Given the description of an element on the screen output the (x, y) to click on. 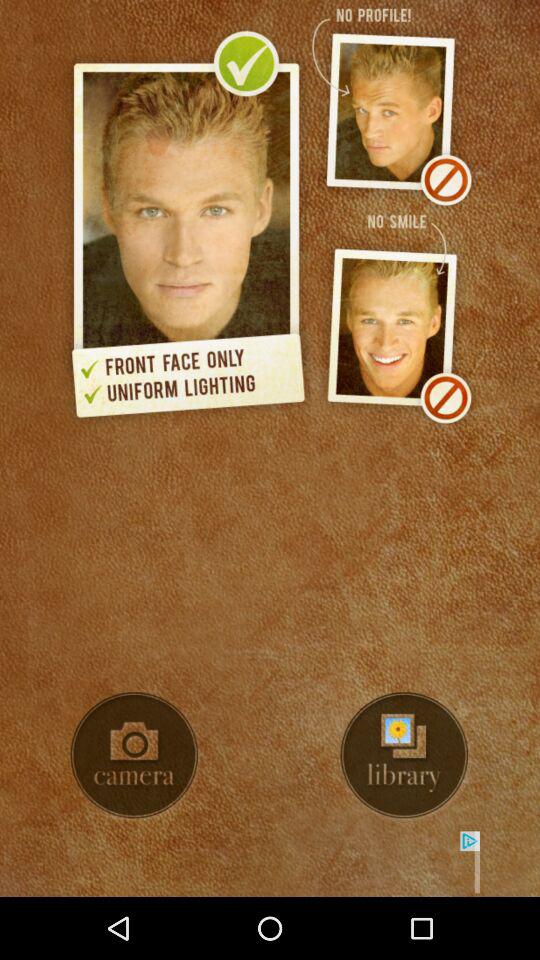
tap item at the bottom (270, 863)
